Given the description of an element on the screen output the (x, y) to click on. 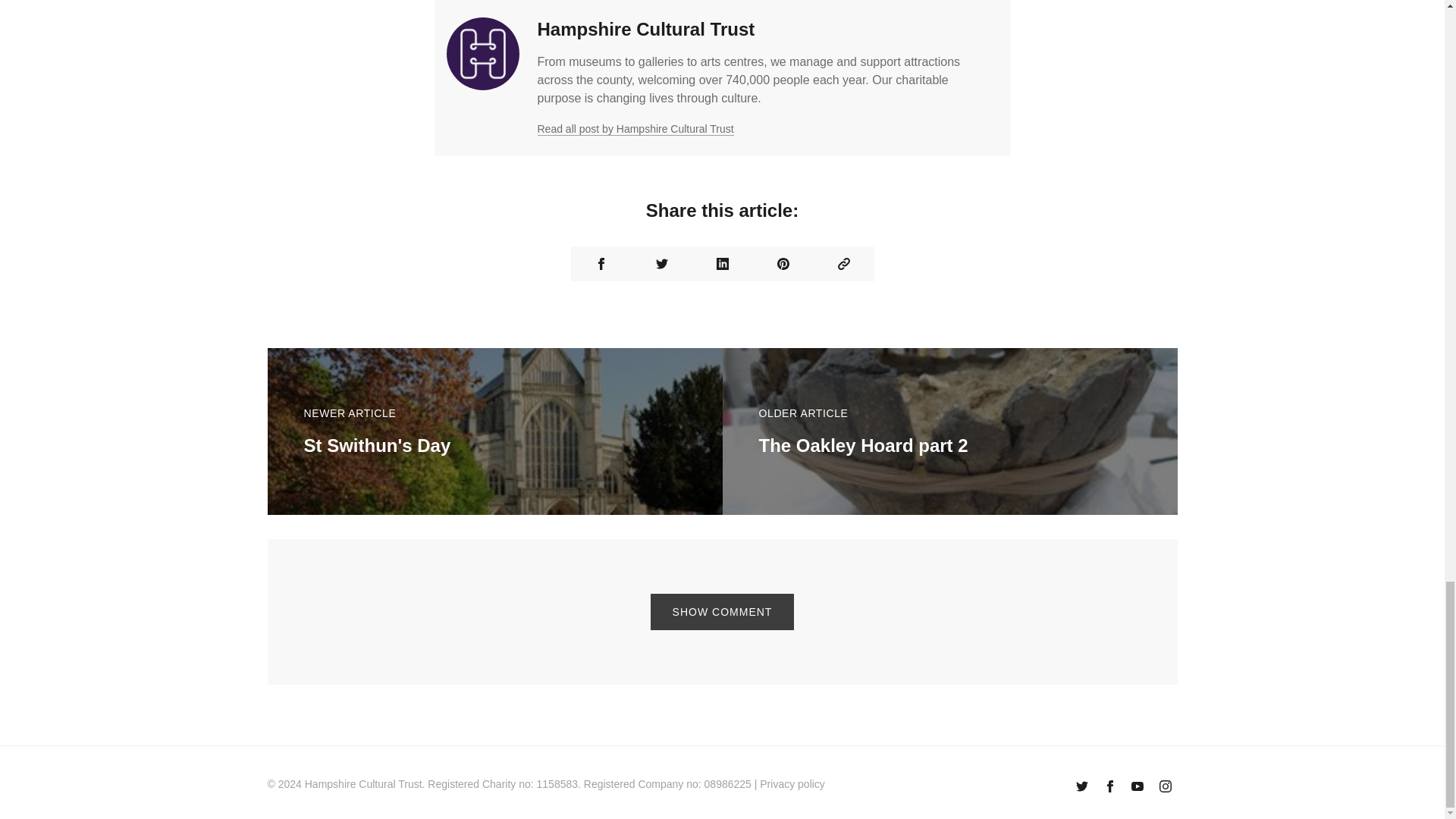
Hampshire Cultural Trust (363, 784)
Copy the permalink (842, 263)
Read all post by Hampshire Cultural Trust (635, 128)
Share on Pinterest (782, 263)
Share on Linkedin (721, 263)
Hampshire Cultural Trust (645, 28)
St Swithun's Day (375, 444)
Privacy policy (792, 784)
The Oakley Hoard part 2 (863, 444)
Share on Facebook (600, 263)
